Given the description of an element on the screen output the (x, y) to click on. 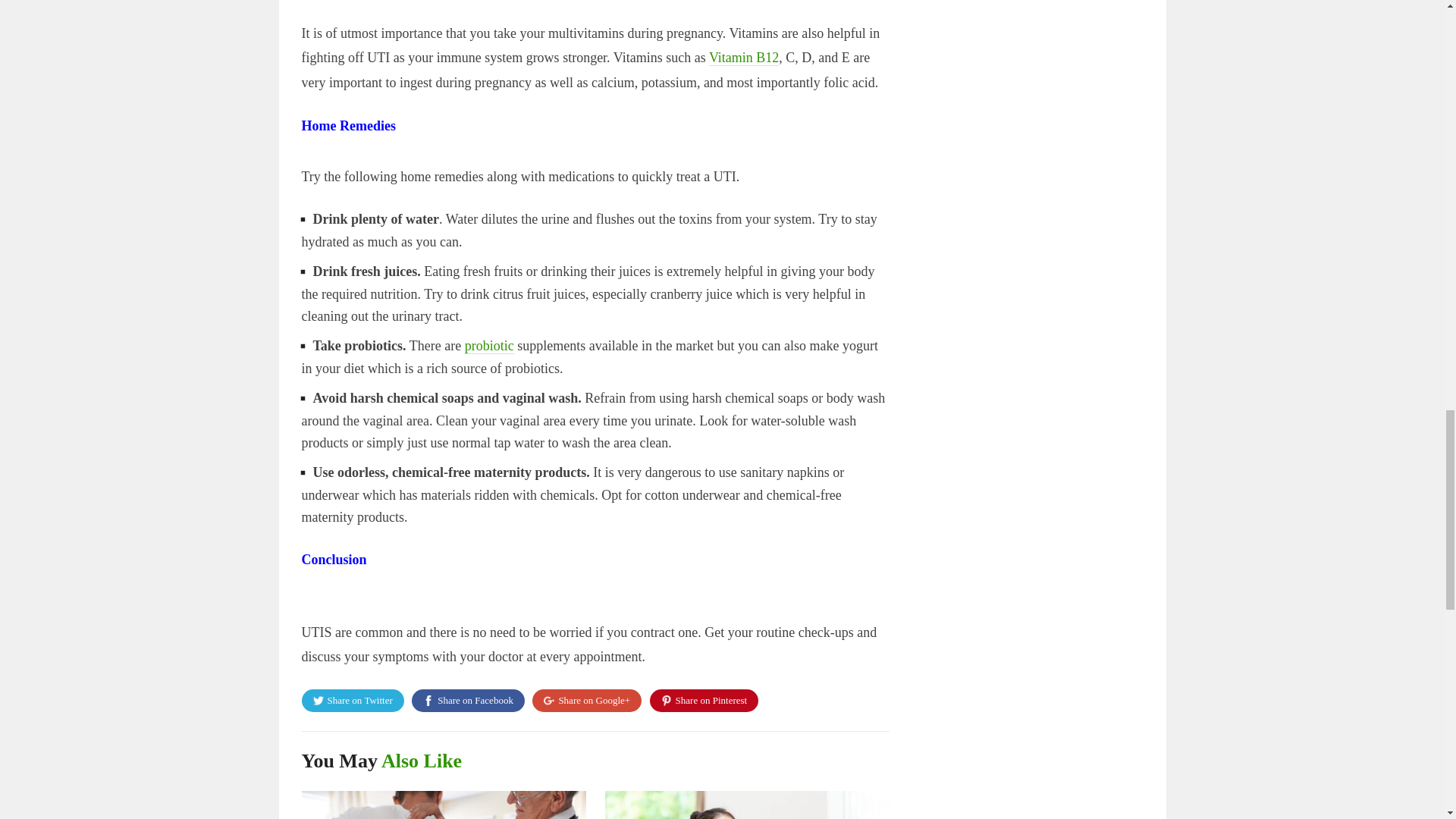
Vitamin B12 (743, 57)
Share on Twitter (352, 699)
Share on Pinterest (703, 699)
Share on Facebook (468, 699)
probiotic (488, 345)
